Given the description of an element on the screen output the (x, y) to click on. 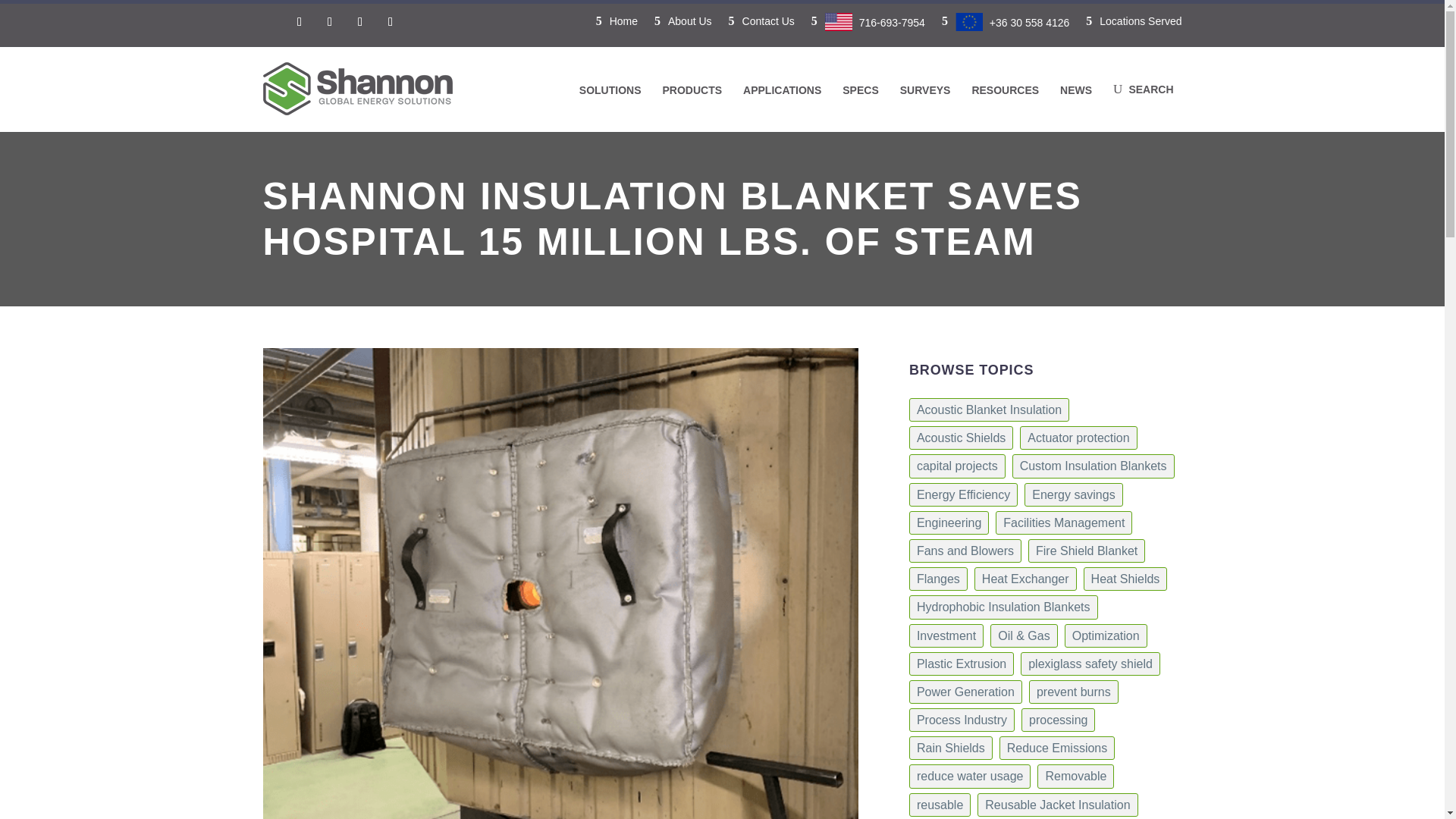
Follow on Youtube (390, 21)
Locations Served (1133, 28)
Home (616, 28)
Follow on LinkedIn (329, 21)
About Us (682, 28)
Contact Us (761, 28)
Follow on X (359, 21)
Follow on Facebook (298, 21)
shannon-global-energy-logo (356, 88)
